Given the description of an element on the screen output the (x, y) to click on. 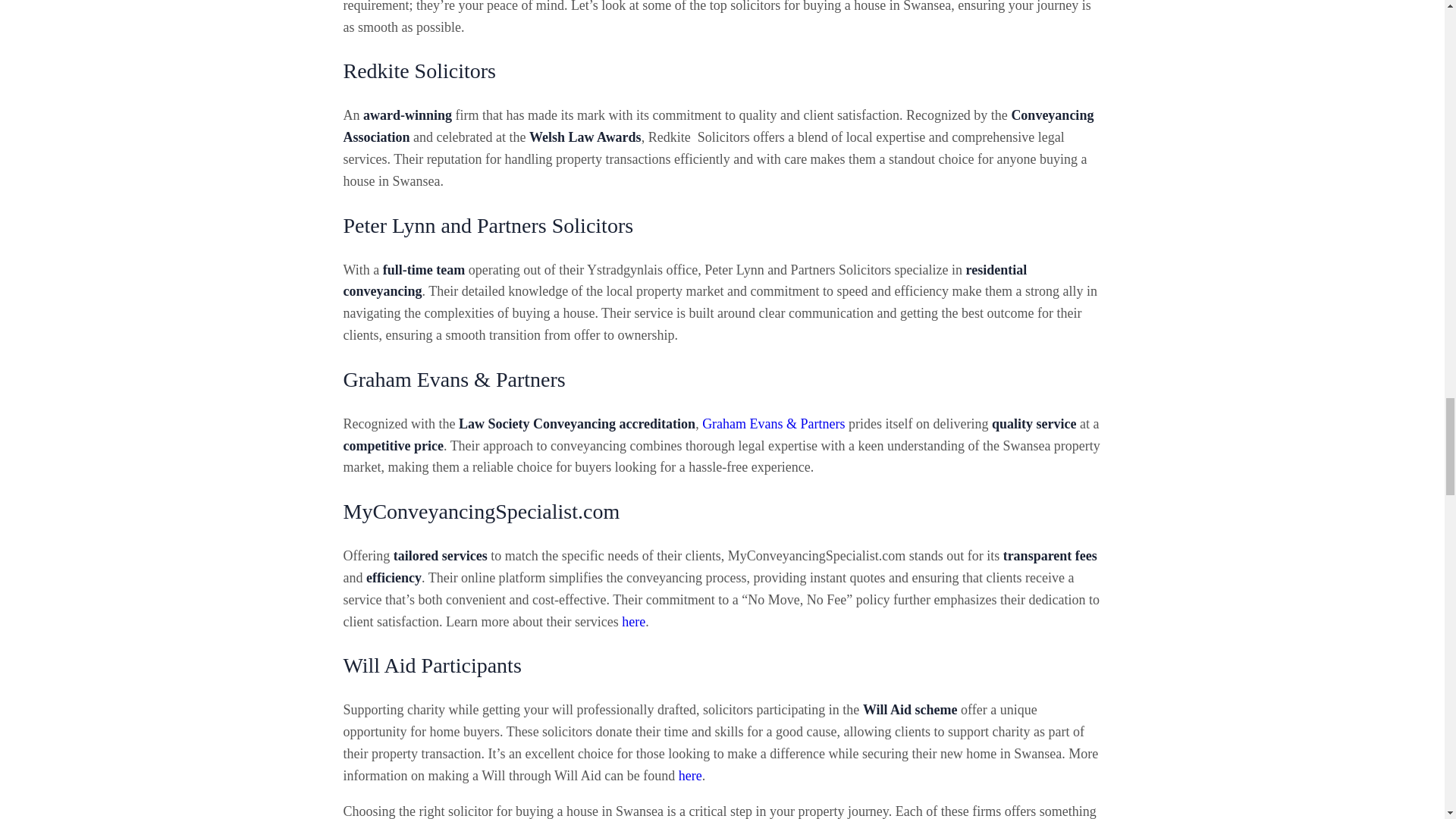
here (689, 775)
here (633, 621)
